Given the description of an element on the screen output the (x, y) to click on. 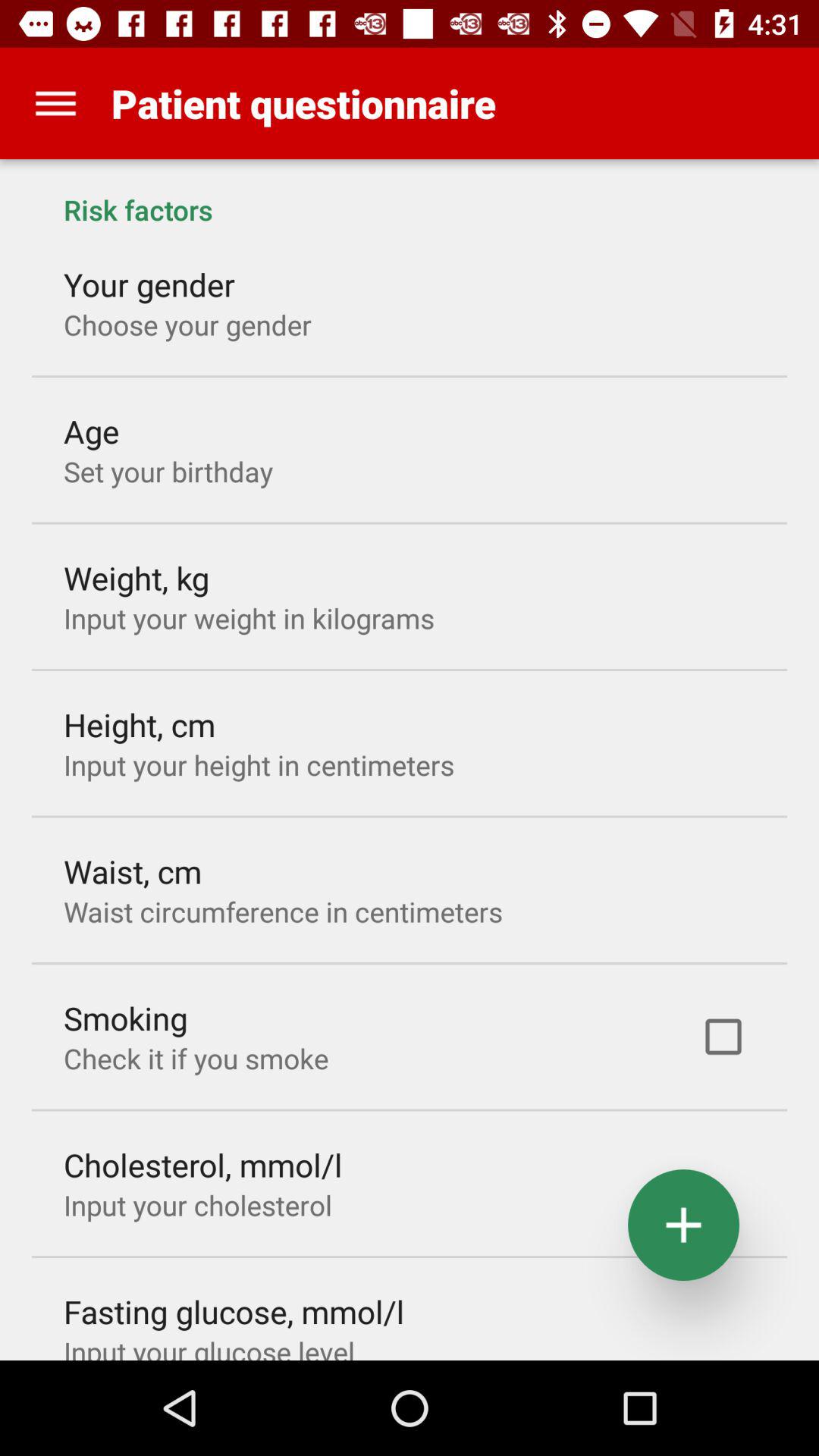
swipe until check it if item (195, 1058)
